Given the description of an element on the screen output the (x, y) to click on. 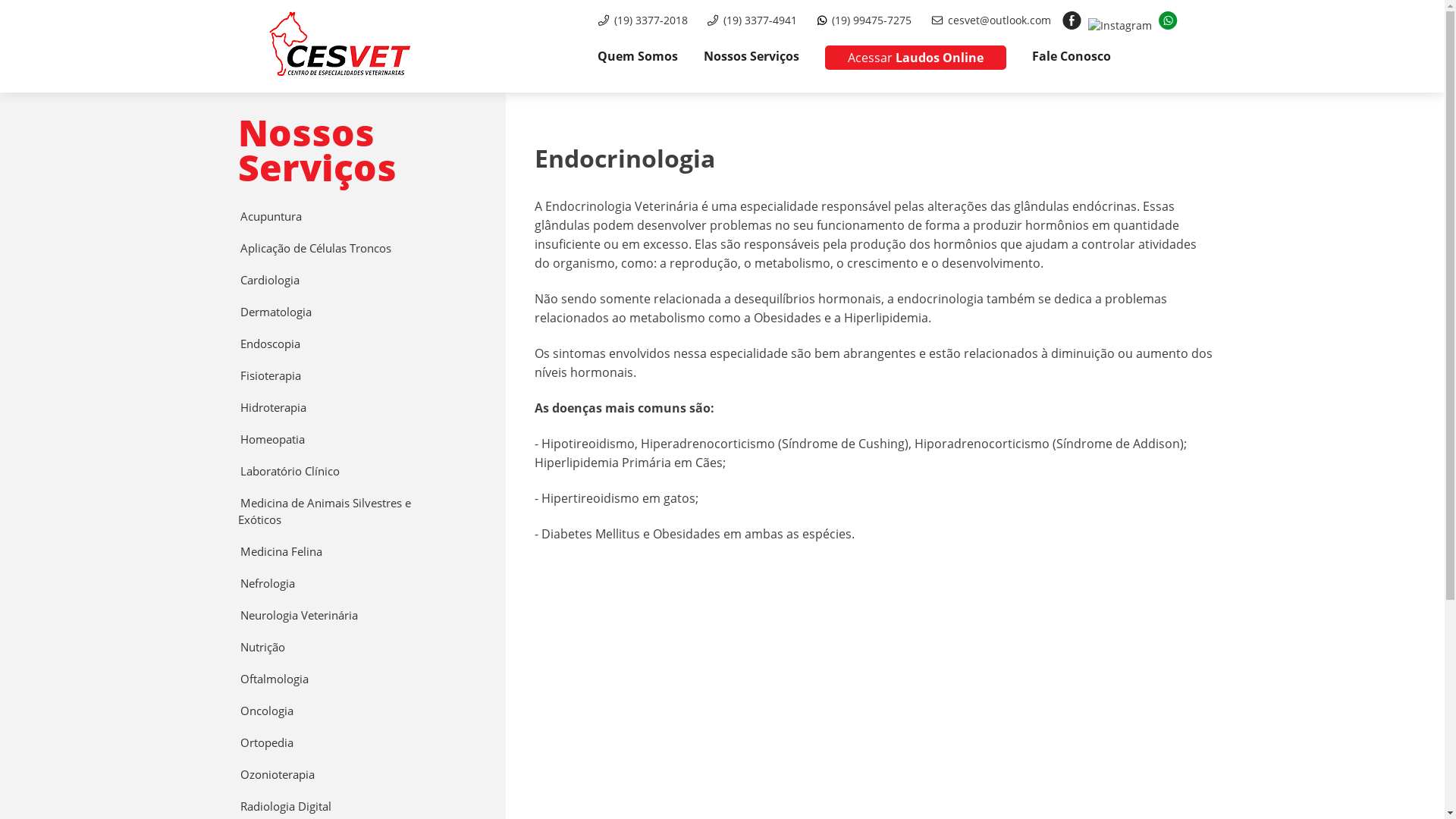
Fisioterapia Element type: text (273, 375)
WhatsApp Element type: hover (1167, 20)
Oncologia Element type: text (269, 710)
Medicina Felina Element type: text (283, 551)
(19) 3377-4941 Element type: text (760, 19)
(19) 99475-7275 Element type: hover (821, 19)
Homeopatia Element type: text (275, 439)
Facebook Element type: hover (1070, 20)
Quem Somos Element type: text (637, 55)
(19) 3377-2018 Element type: hover (603, 19)
Cardiologia Element type: text (272, 280)
cesvet@outlook.com Element type: hover (936, 19)
cesvet@outlook.com Element type: text (999, 19)
Endoscopia Element type: text (272, 343)
Fale Conosco Element type: text (1070, 55)
Acessar Laudos Online Element type: text (915, 57)
Instagram Element type: hover (1119, 25)
Radiologia Digital Element type: text (288, 806)
(19) 3377-4941 Element type: hover (712, 19)
Acupuntura Element type: text (273, 216)
Ozonioterapia Element type: text (280, 774)
Dermatologia Element type: text (278, 312)
Oftalmologia Element type: text (277, 679)
(19) 3377-2018 Element type: text (650, 19)
(19) 99475-7275 Element type: text (870, 19)
Ortopedia Element type: text (269, 742)
Hidroterapia Element type: text (275, 407)
Nefrologia Element type: text (270, 583)
